Given the description of an element on the screen output the (x, y) to click on. 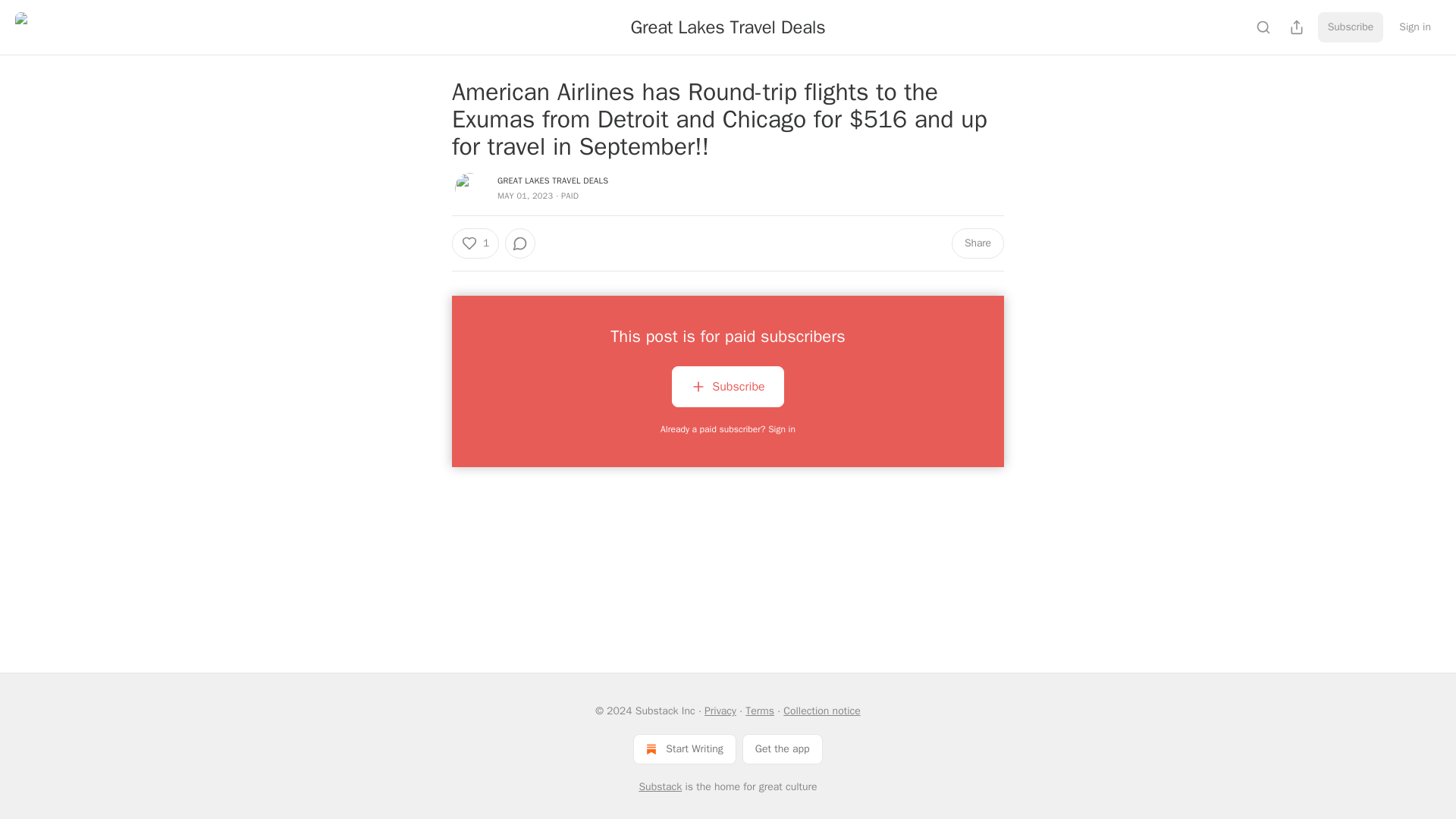
Privacy (720, 710)
Sign in (1415, 27)
1 (475, 243)
Substack (660, 786)
Great Lakes Travel Deals (727, 26)
Terms (759, 710)
Subscribe (727, 386)
Get the app (782, 748)
Share (978, 243)
Subscribe (727, 389)
